Given the description of an element on the screen output the (x, y) to click on. 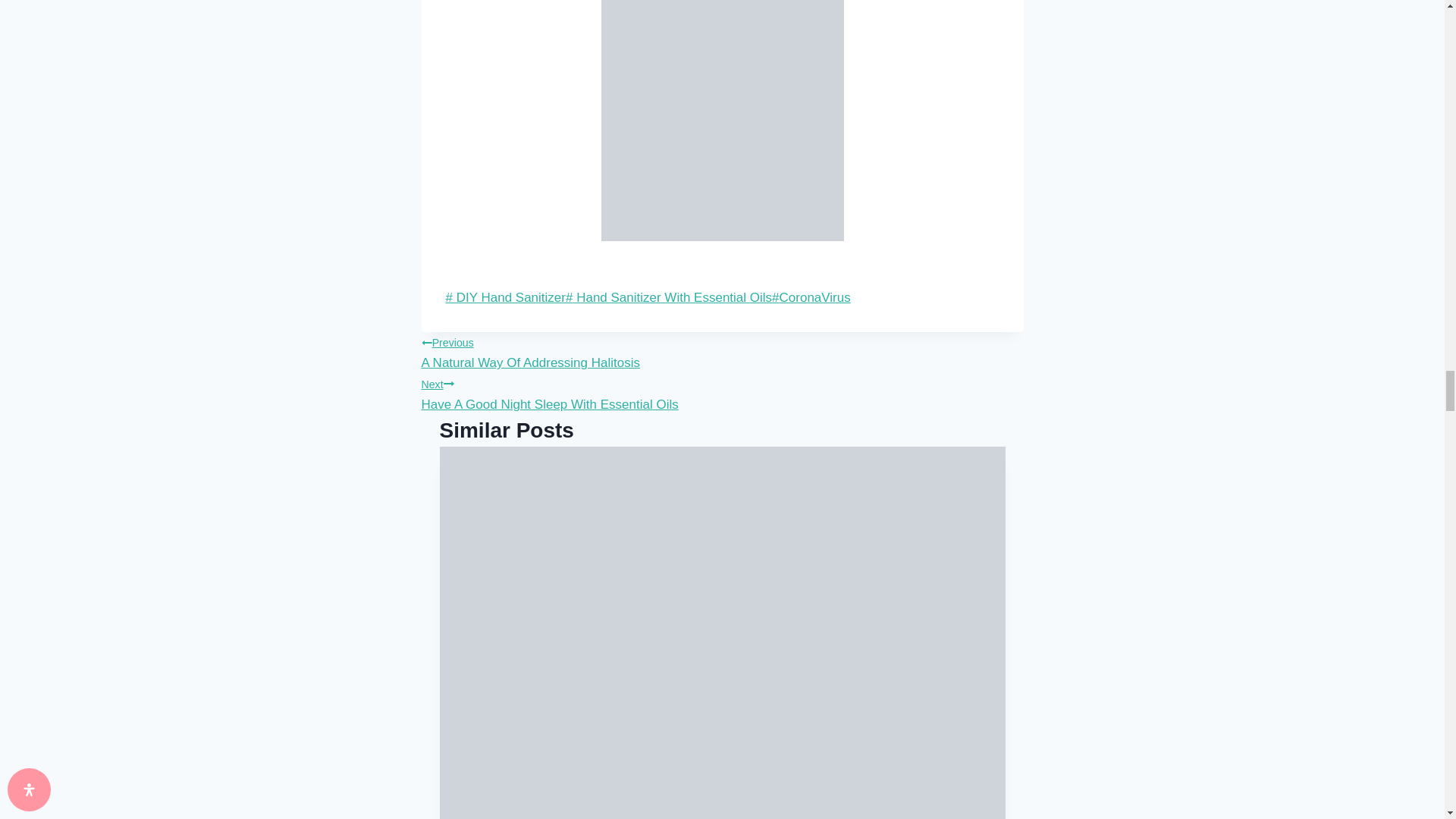
 DIY Hand Sanitizer (505, 297)
CoronaVirus (810, 297)
 Hand Sanitizer With Essential Oils (668, 297)
